Given the description of an element on the screen output the (x, y) to click on. 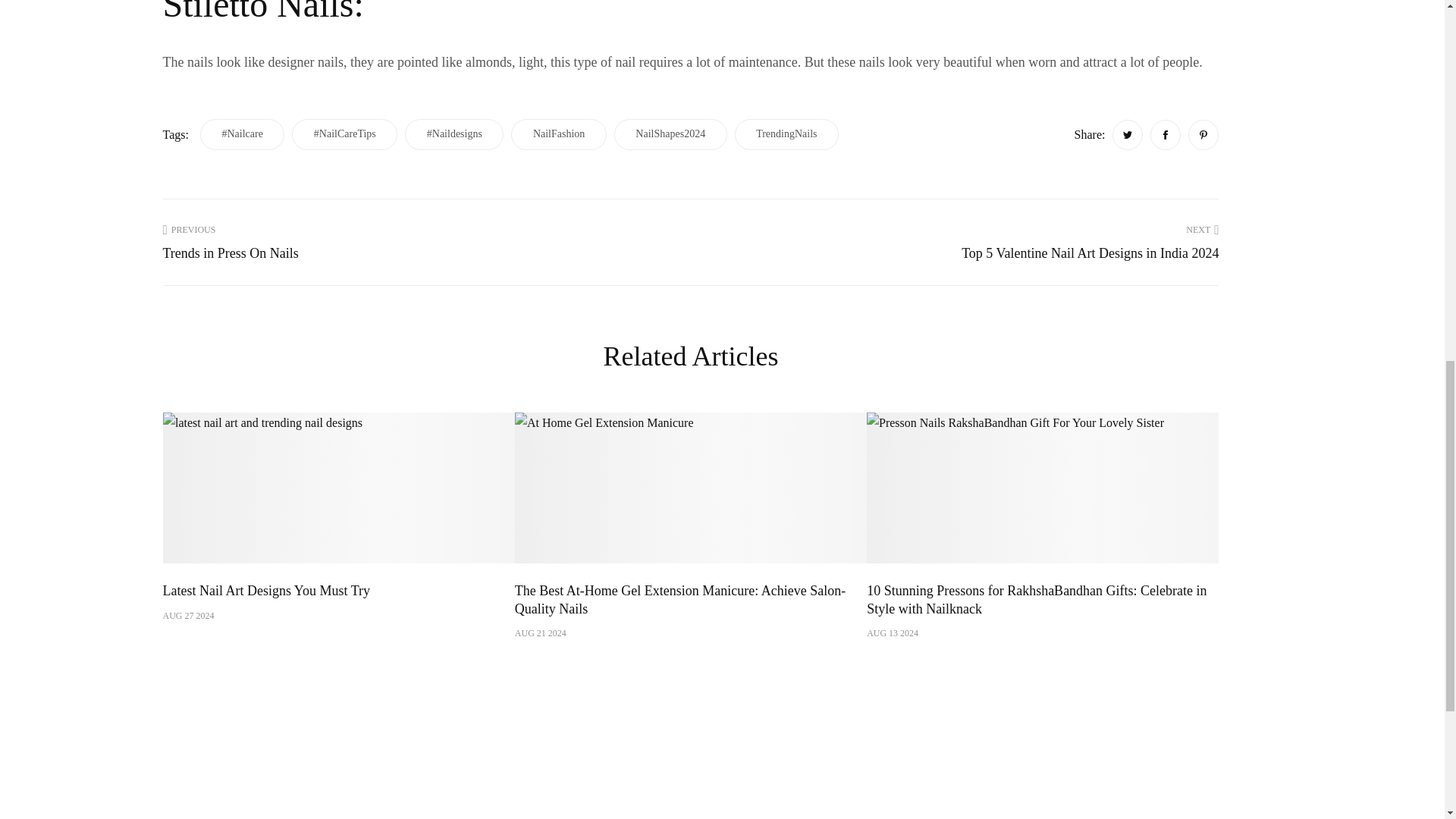
Show articles tagged TrendingNails (786, 133)
Show articles tagged NailShapes2024 (670, 133)
Show articles tagged NailFashion (558, 133)
